Given the description of an element on the screen output the (x, y) to click on. 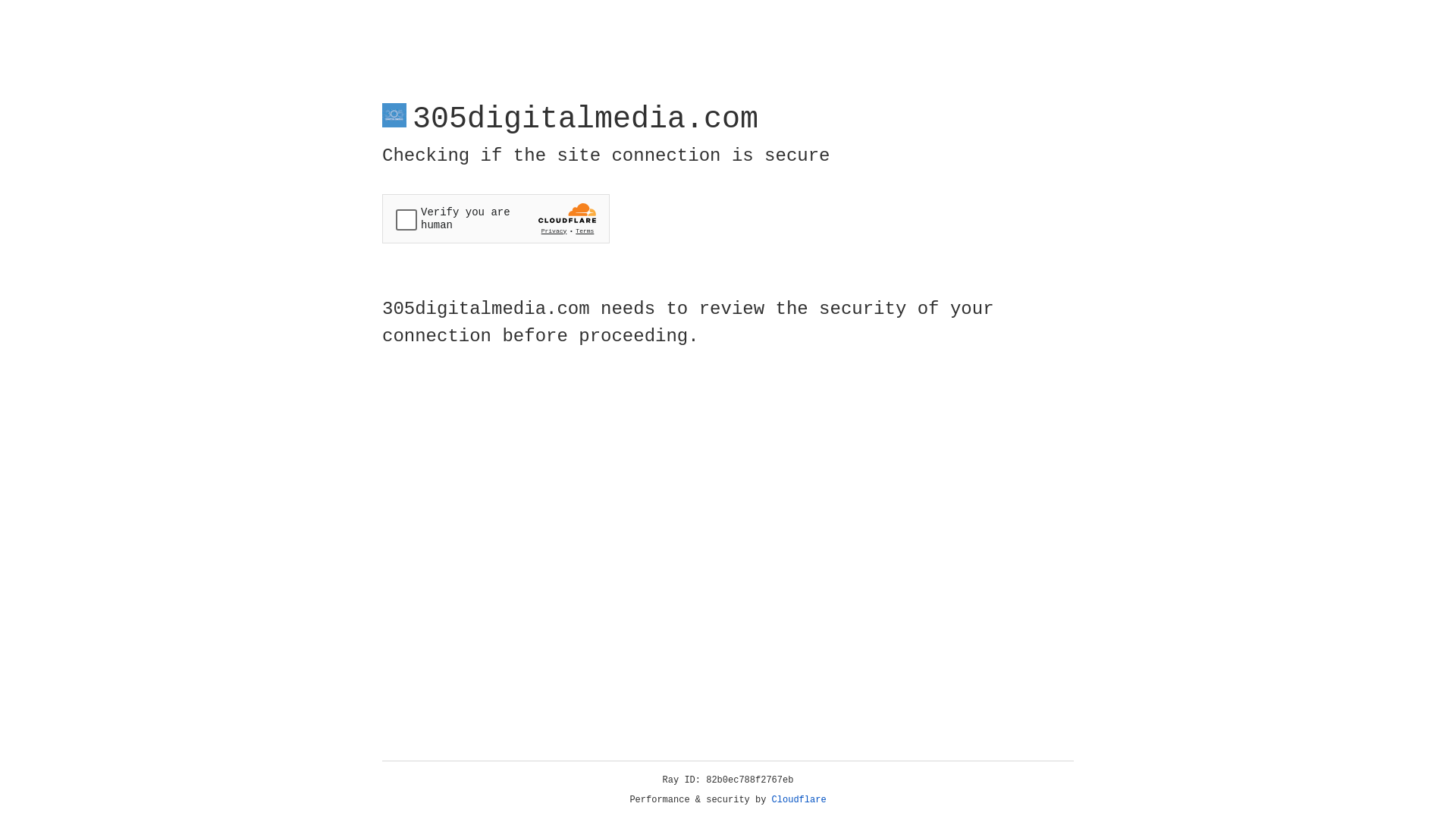
Cloudflare Element type: text (798, 799)
Widget containing a Cloudflare security challenge Element type: hover (495, 218)
